Given the description of an element on the screen output the (x, y) to click on. 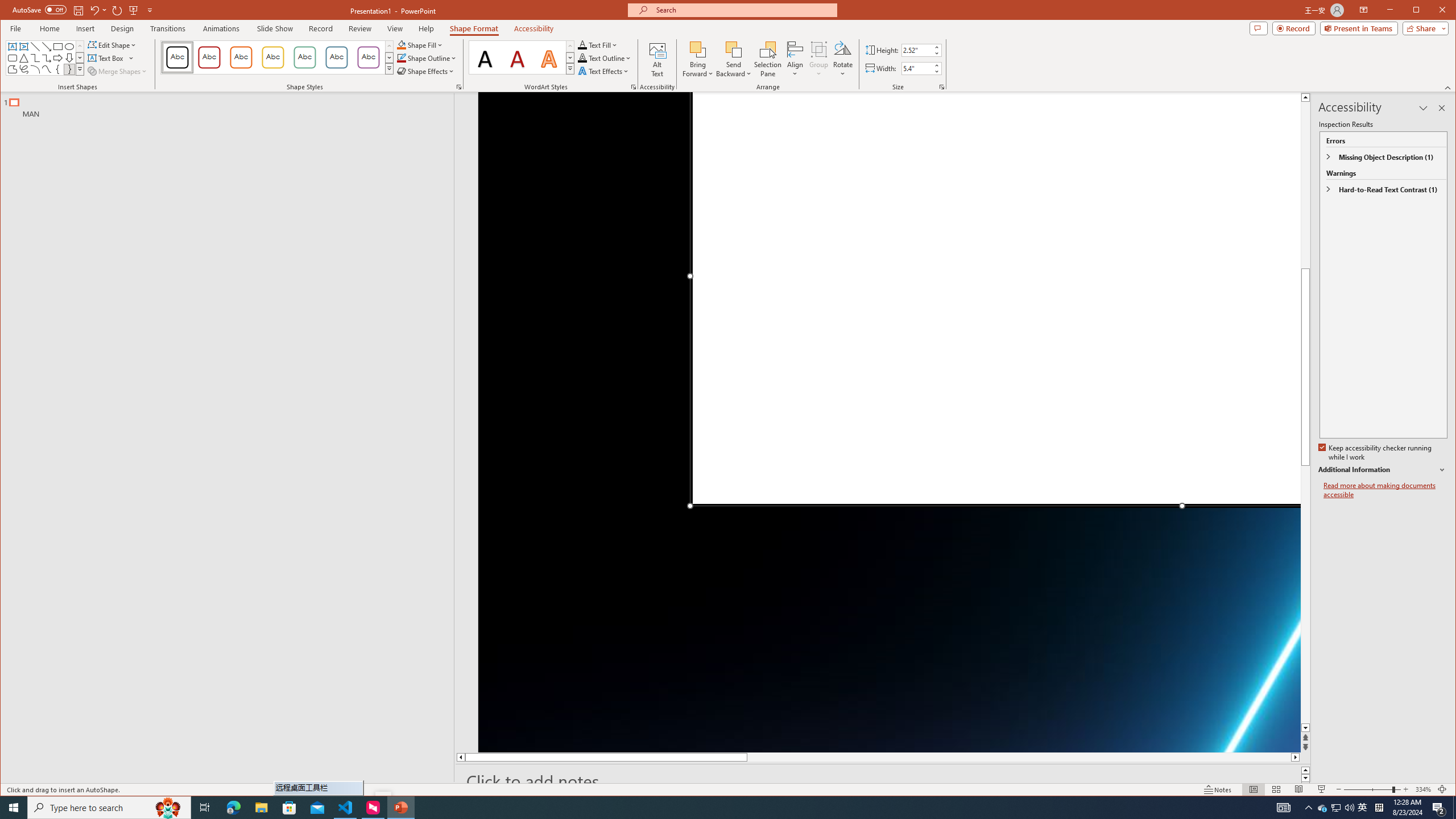
Colored Outline - Blue-Gray, Accent 5 (336, 57)
Text Effects (603, 70)
